Given the description of an element on the screen output the (x, y) to click on. 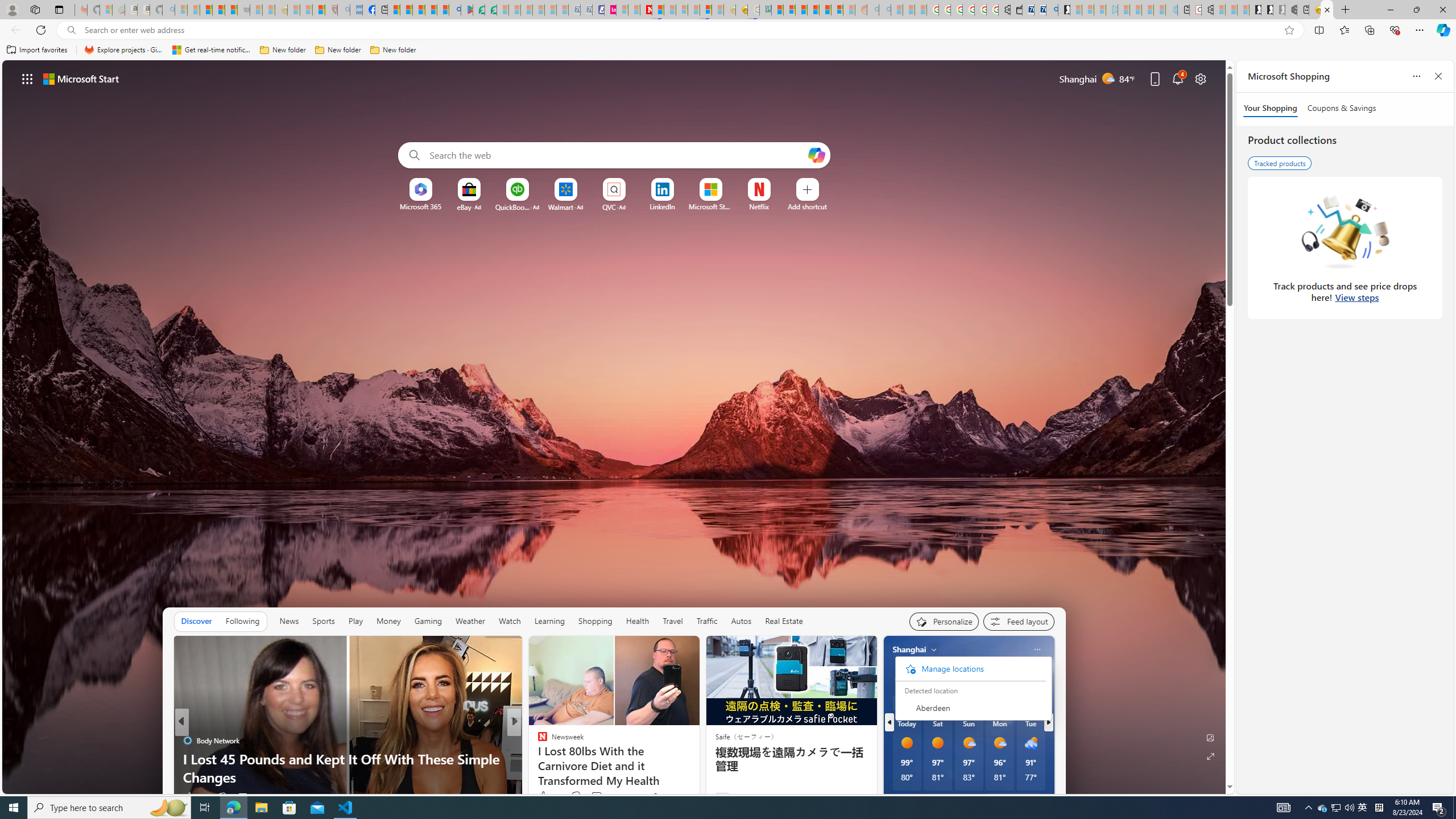
Sports (323, 621)
Microsoft start (81, 78)
Add a site (807, 206)
Weather (470, 621)
Watch (509, 621)
Enter your search term (617, 155)
Page settings (1200, 78)
Microsoft-Report a Concern to Bing - Sleeping (105, 9)
Expand background (1210, 756)
Import favorites (36, 49)
To get missing image descriptions, open the context menu. (420, 189)
Combat Siege (243, 9)
